Given the description of an element on the screen output the (x, y) to click on. 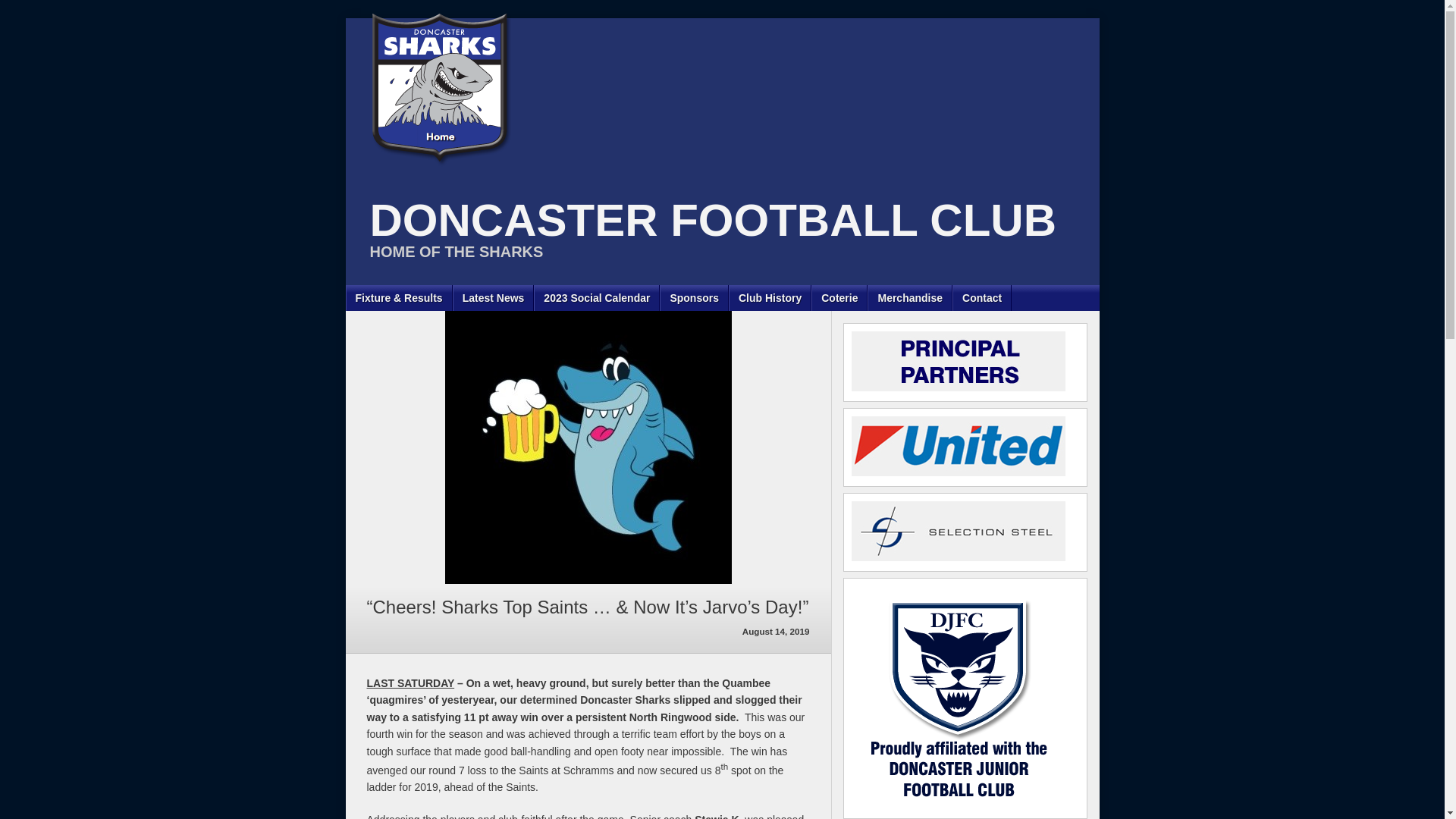
Contact Element type: text (981, 297)
Merchandise Element type: text (909, 297)
Club History Element type: text (769, 297)
DONCASTER FOOTBALL CLUB Element type: text (707, 219)
Latest News Element type: text (493, 297)
Coterie Element type: text (839, 297)
Fixture & Results Element type: text (398, 297)
2023 Social Calendar Element type: text (596, 297)
HOME OF THE SHARKS Element type: text (450, 251)
Sponsors Element type: text (694, 297)
